Given the description of an element on the screen output the (x, y) to click on. 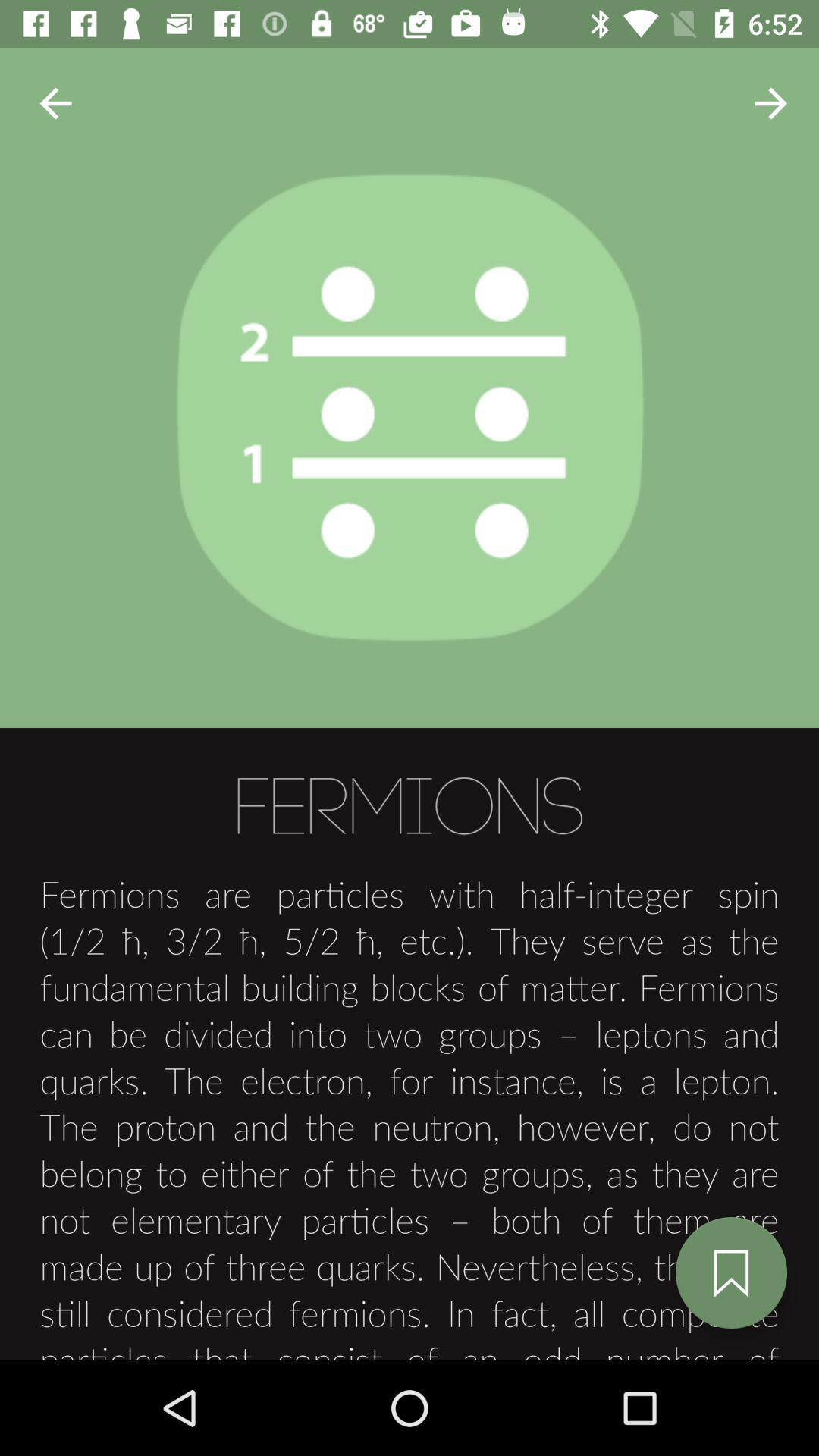
button to bookmark (731, 1272)
